Given the description of an element on the screen output the (x, y) to click on. 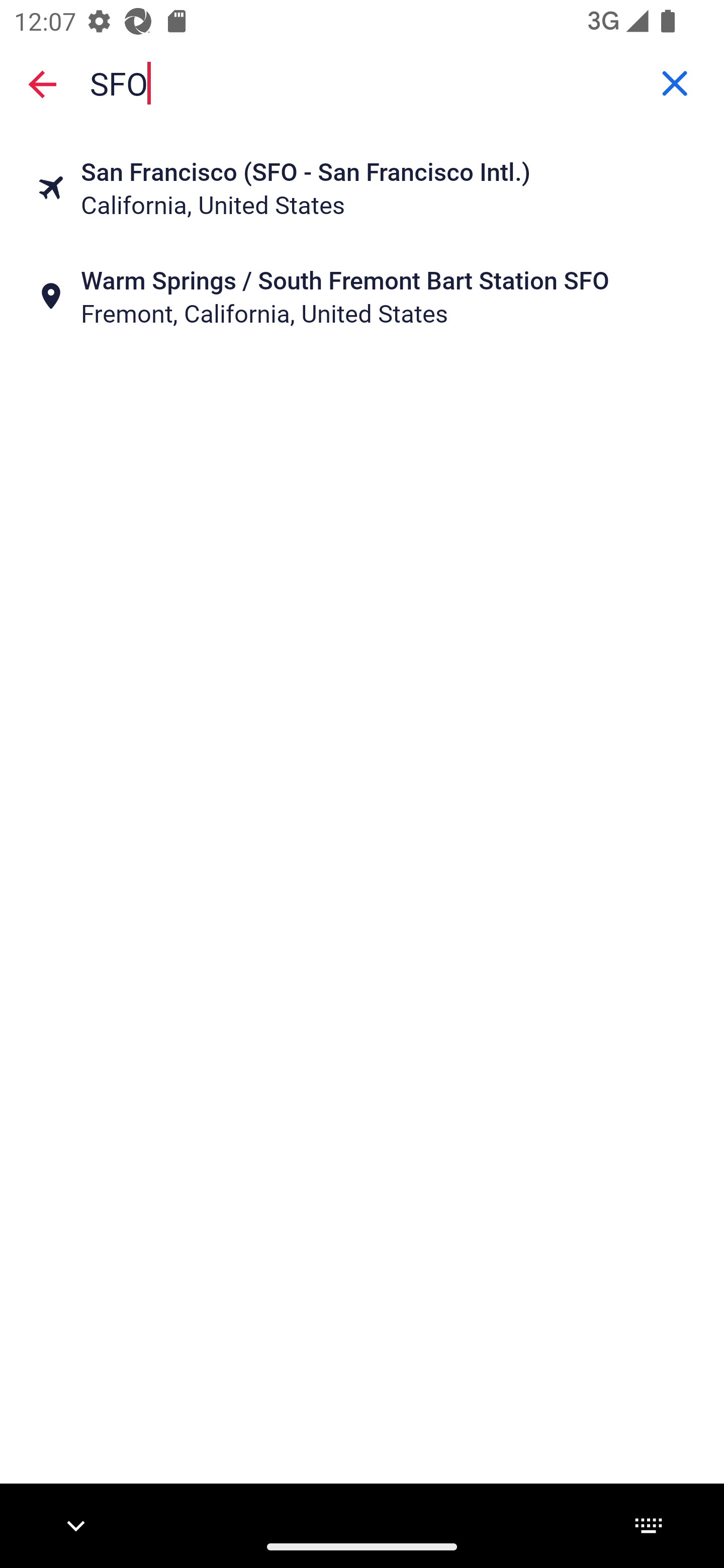
Close search screen (42, 84)
Clear Pick-up (674, 82)
Pick-up, SFO (361, 82)
